Given the description of an element on the screen output the (x, y) to click on. 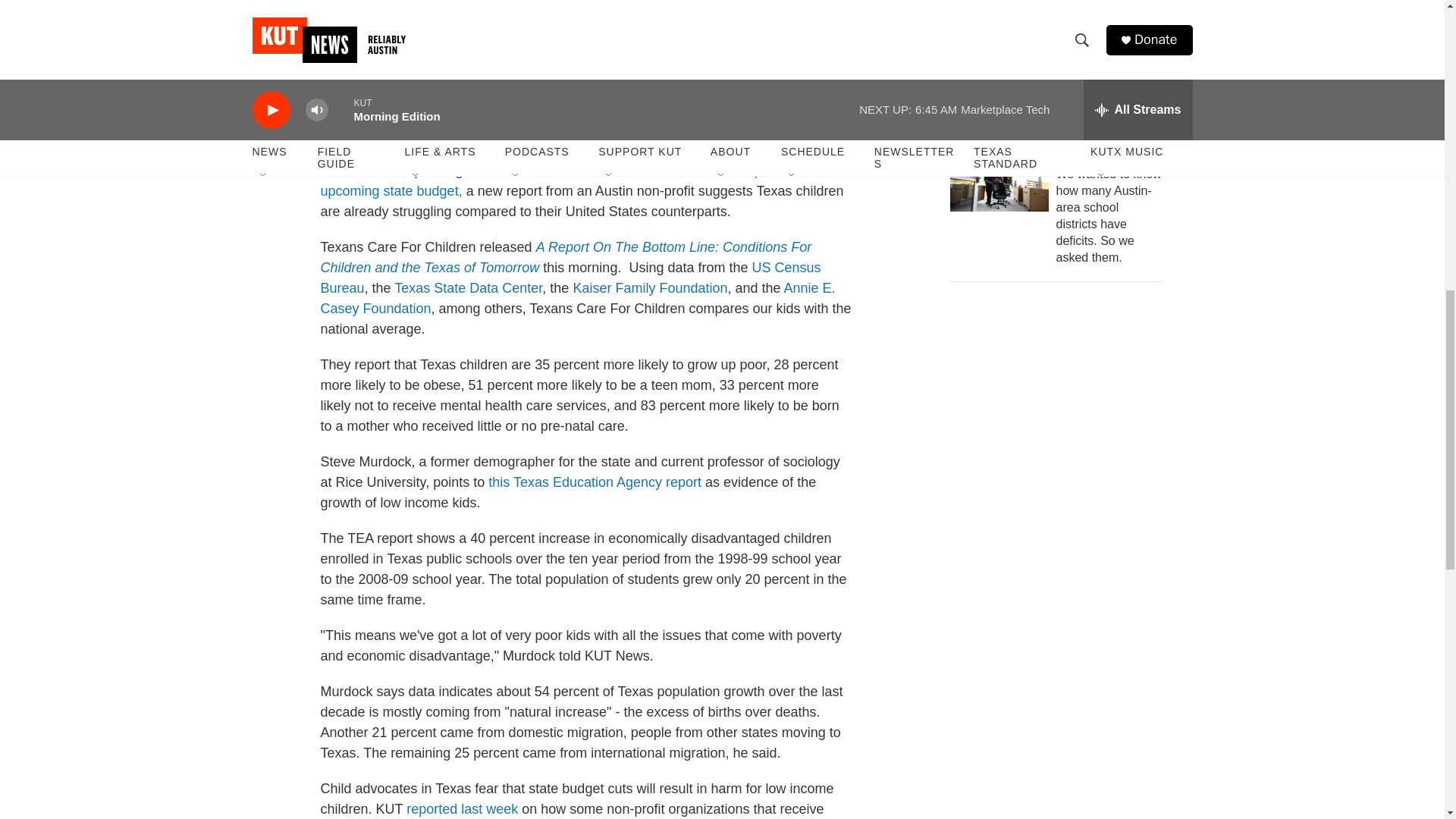
3rd party ad content (1062, 626)
3rd party ad content (1062, 407)
